Given the description of an element on the screen output the (x, y) to click on. 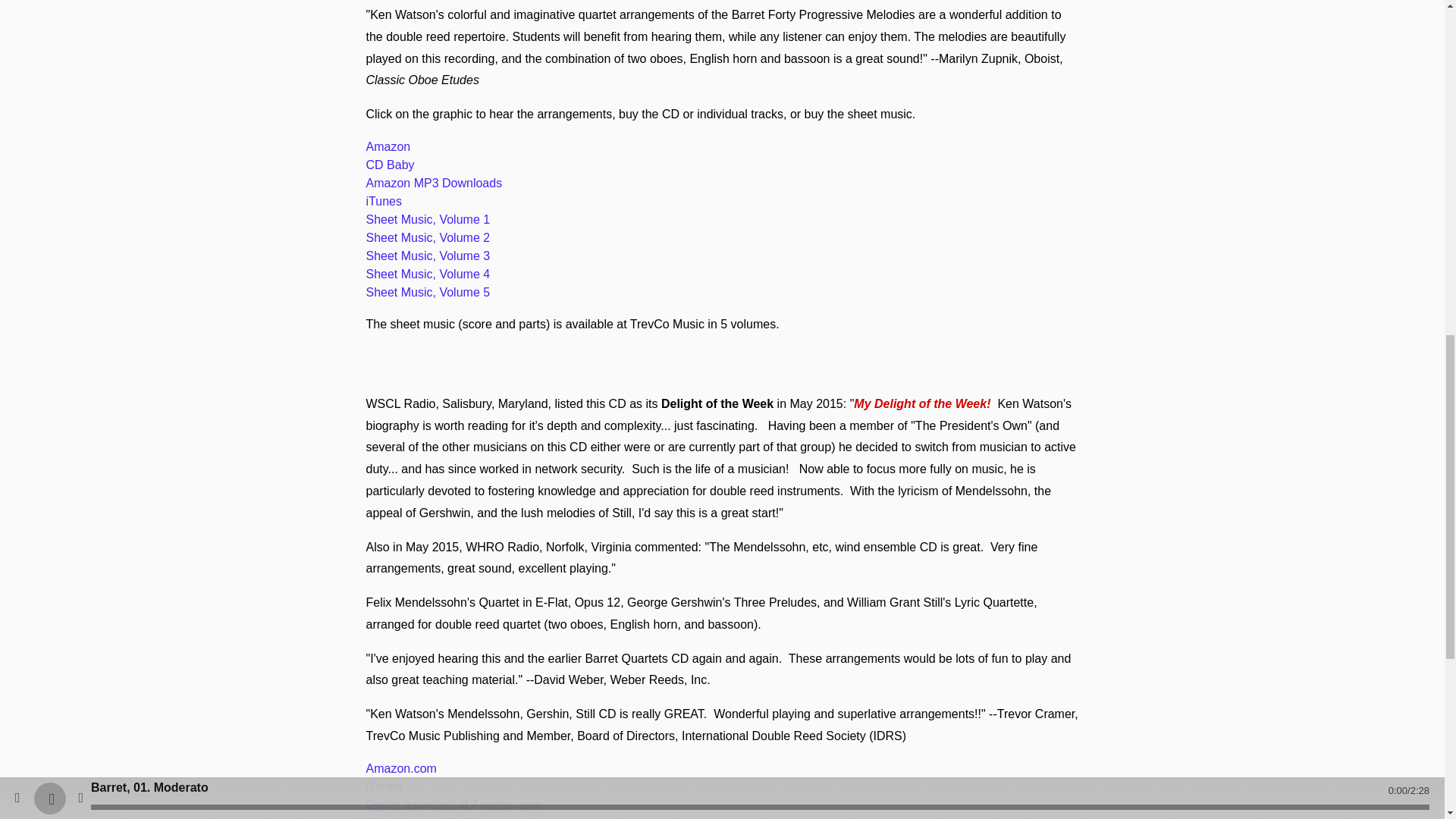
iTunes (383, 786)
Sheet Music, Volume 5 (427, 291)
Amazon MP3 Downloads (433, 182)
Sheet Music, Volume 4 (427, 273)
iTunes (383, 201)
Amazon (387, 146)
CD Baby (389, 164)
Sheet Music, Volume 1 (427, 219)
Amazon.com (400, 768)
Sheet Music, Volume 2 (427, 237)
Sheet Music, Volume 3 (427, 255)
Digital download at Amazon.com (453, 804)
